Given the description of an element on the screen output the (x, y) to click on. 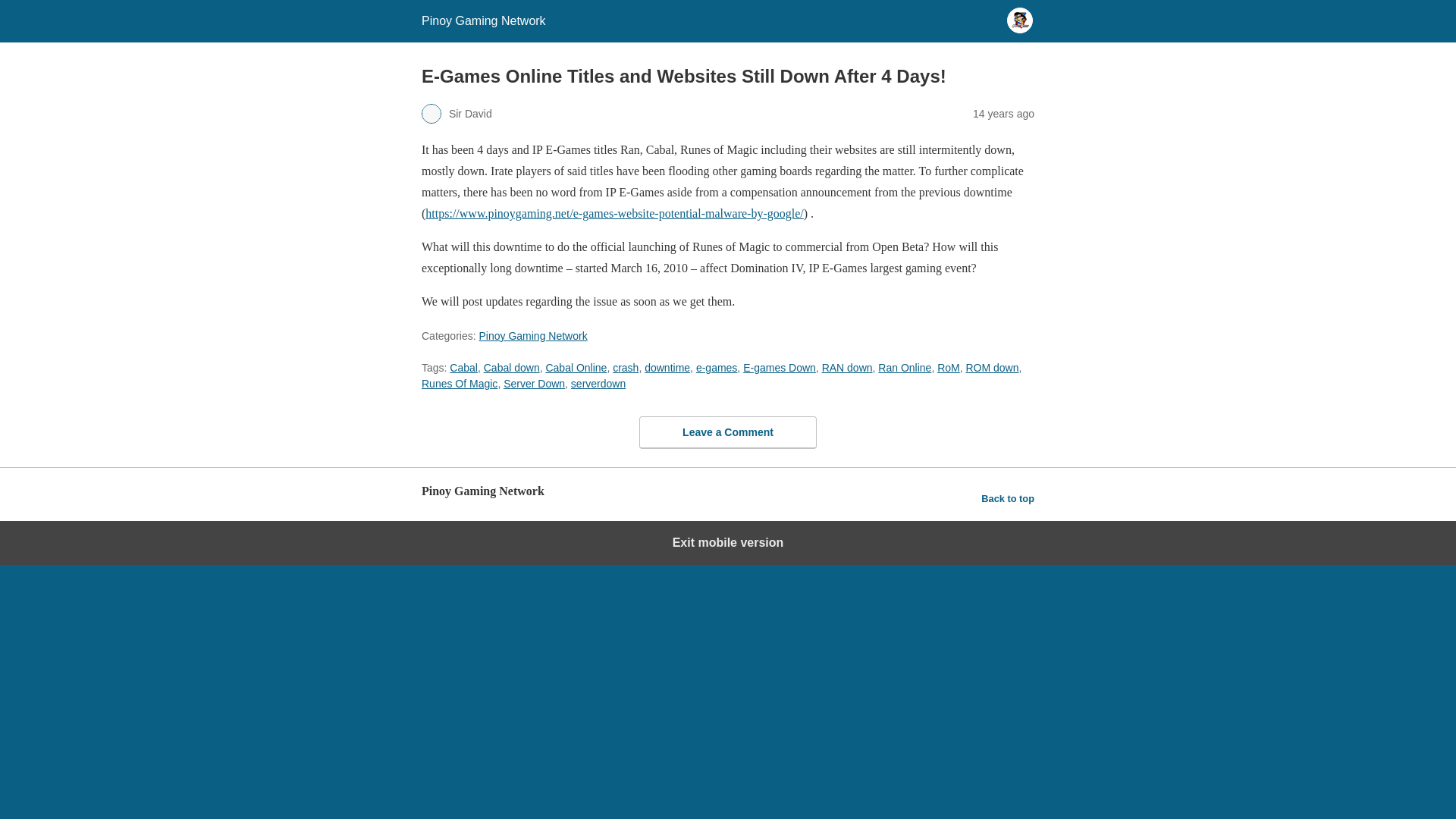
ROM down (992, 367)
Back to top (1007, 498)
serverdown (598, 383)
Runes Of Magic (459, 383)
Pinoy Gaming Network (484, 20)
Cabal Online (575, 367)
RoM (948, 367)
Leave a Comment (727, 431)
Cabal (463, 367)
crash (625, 367)
Pinoy Gaming Network (532, 336)
e-games (715, 367)
Cabal down (511, 367)
Server Down (533, 383)
Ran Online (904, 367)
